Given the description of an element on the screen output the (x, y) to click on. 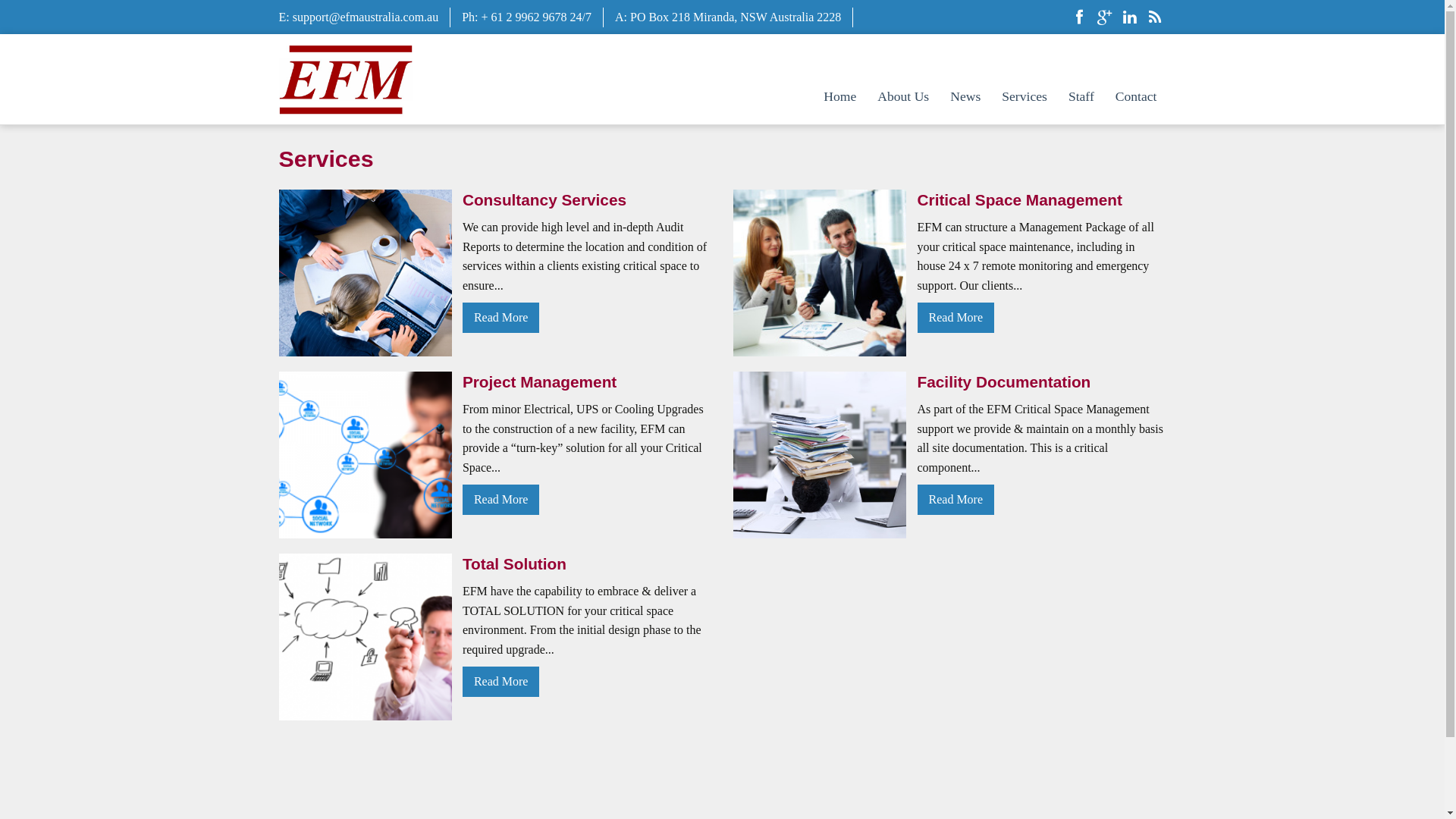
Contact Element type: text (1136, 96)
Join us on Linked-In Element type: hover (1128, 18)
Read More Element type: text (500, 316)
Home Element type: text (839, 96)
Like us on Facebook Element type: hover (1078, 18)
Read Our RSS Feed Element type: hover (1154, 18)
News Element type: text (965, 96)
Critical Space Management Element type: text (1041, 199)
Facility Documentation Element type: text (1041, 381)
Ph: + 61 2 9962 9678 24/7 Element type: text (526, 16)
A: PO Box 218 Miranda, NSW Australia 2228 Element type: text (727, 16)
Read More Element type: text (955, 316)
Back to EFM homepage  Element type: hover (346, 77)
Services Element type: text (1024, 96)
E: support@efmaustralia.com.au Element type: text (359, 16)
Consultancy Services Element type: text (586, 199)
Join our Google Plus Circle Element type: hover (1104, 18)
Total Solution Element type: text (586, 563)
Project Management Element type: text (586, 381)
Read More Element type: text (955, 498)
Read More Element type: text (500, 680)
Read More Element type: text (500, 498)
About Us Element type: text (903, 96)
Staff Element type: text (1081, 96)
